Given the description of an element on the screen output the (x, y) to click on. 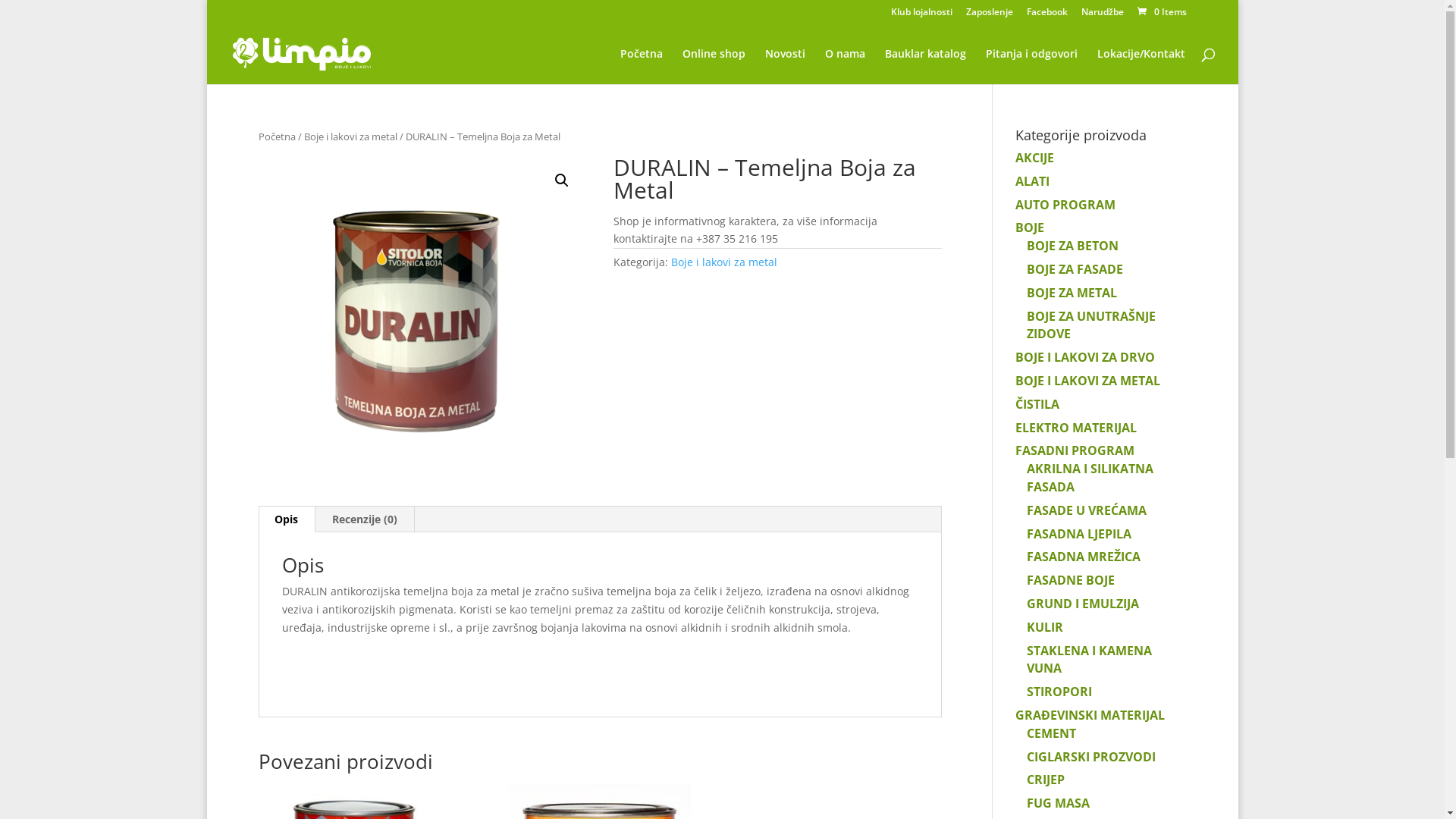
AKRILNA I SILIKATNA FASADA Element type: text (1089, 477)
FASADNI PROGRAM Element type: text (1074, 450)
Boje i lakovi za metal Element type: text (724, 261)
AKCIJE Element type: text (1034, 157)
Opis Element type: text (285, 519)
CIGLARSKI PROZVODI Element type: text (1090, 756)
Novosti Element type: text (784, 66)
Zaposlenje Element type: text (989, 15)
Klub lojalnosti Element type: text (920, 15)
Lokacije/Kontakt Element type: text (1140, 66)
Bauklar katalog Element type: text (924, 66)
BOJE I LAKOVI ZA METAL Element type: text (1087, 380)
BOJE ZA METAL Element type: text (1071, 292)
O nama Element type: text (845, 66)
DURALIN-temeljna-boja-za-metal.jpg Element type: hover (421, 319)
Facebook Element type: text (1046, 15)
FASADNE BOJE Element type: text (1070, 579)
ALATI Element type: text (1032, 180)
Recenzije (0) Element type: text (364, 519)
BOJE Element type: text (1029, 227)
AUTO PROGRAM Element type: text (1065, 204)
STAKLENA I KAMENA VUNA Element type: text (1088, 659)
FASADNA LJEPILA Element type: text (1078, 533)
BOJE I LAKOVI ZA DRVO Element type: text (1084, 356)
BOJE ZA FASADE Element type: text (1074, 268)
STIROPORI Element type: text (1059, 691)
FUG MASA Element type: text (1057, 802)
CRIJEP Element type: text (1045, 779)
0 Items Element type: text (1160, 11)
Boje i lakovi za metal Element type: text (349, 136)
ELEKTRO MATERIJAL Element type: text (1075, 427)
BOJE ZA BETON Element type: text (1072, 245)
Online shop Element type: text (713, 66)
GRUND I EMULZIJA Element type: text (1082, 603)
Pitanja i odgovori Element type: text (1031, 66)
CEMENT Element type: text (1051, 732)
KULIR Element type: text (1044, 626)
